Given the description of an element on the screen output the (x, y) to click on. 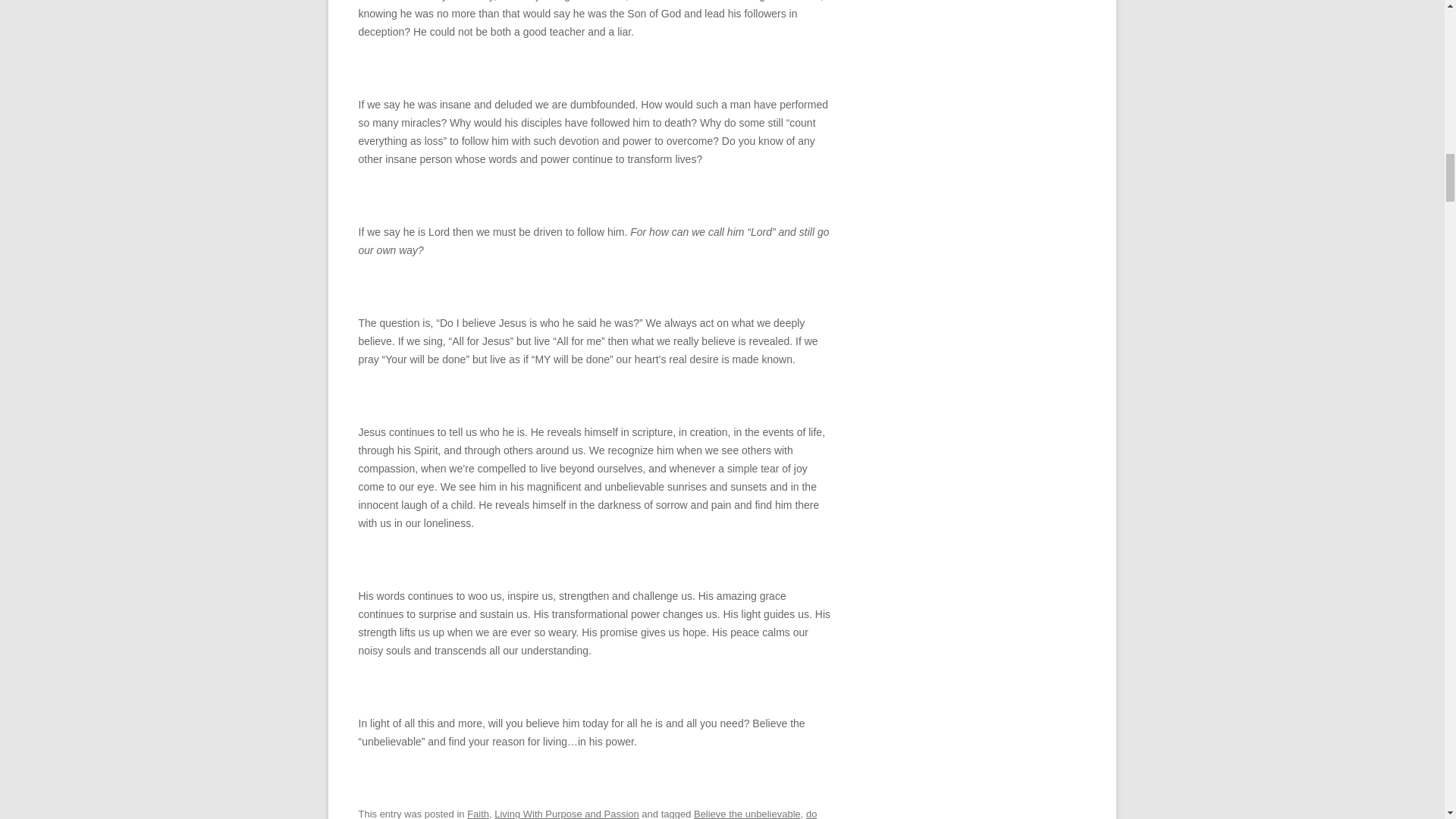
Believe the unbelievable (747, 813)
Living With Purpose and Passion (567, 813)
do you believe (587, 813)
Faith (478, 813)
